Given the description of an element on the screen output the (x, y) to click on. 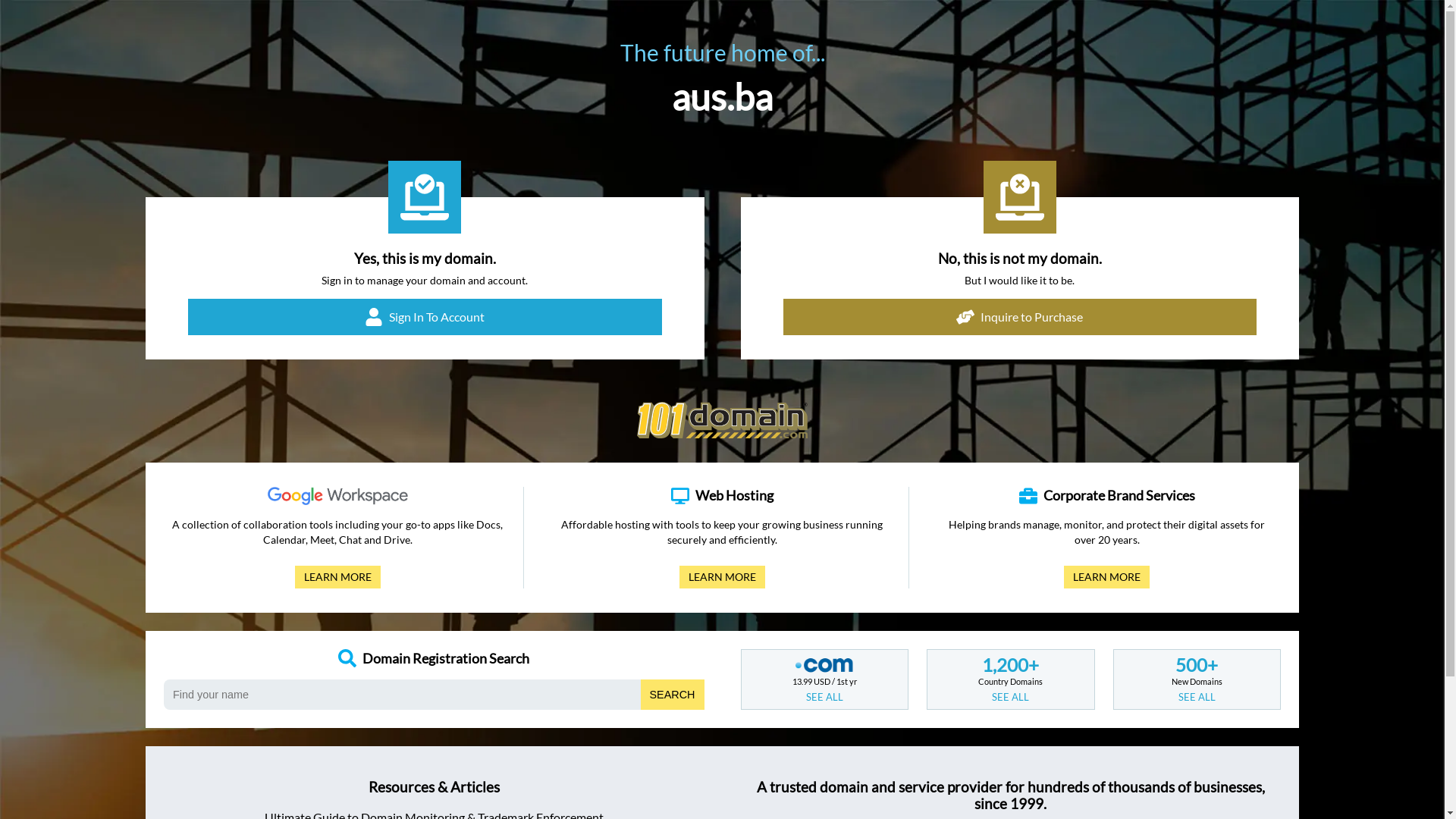
SEE ALL Element type: text (1010, 696)
LEARN MORE Element type: text (722, 576)
SEARCH Element type: text (672, 694)
LEARN MORE Element type: text (1106, 576)
Sign In To Account Element type: text (425, 316)
Inquire to Purchase Element type: text (1019, 316)
SEE ALL Element type: text (824, 696)
SEE ALL Element type: text (1196, 696)
LEARN MORE Element type: text (337, 576)
